Given the description of an element on the screen output the (x, y) to click on. 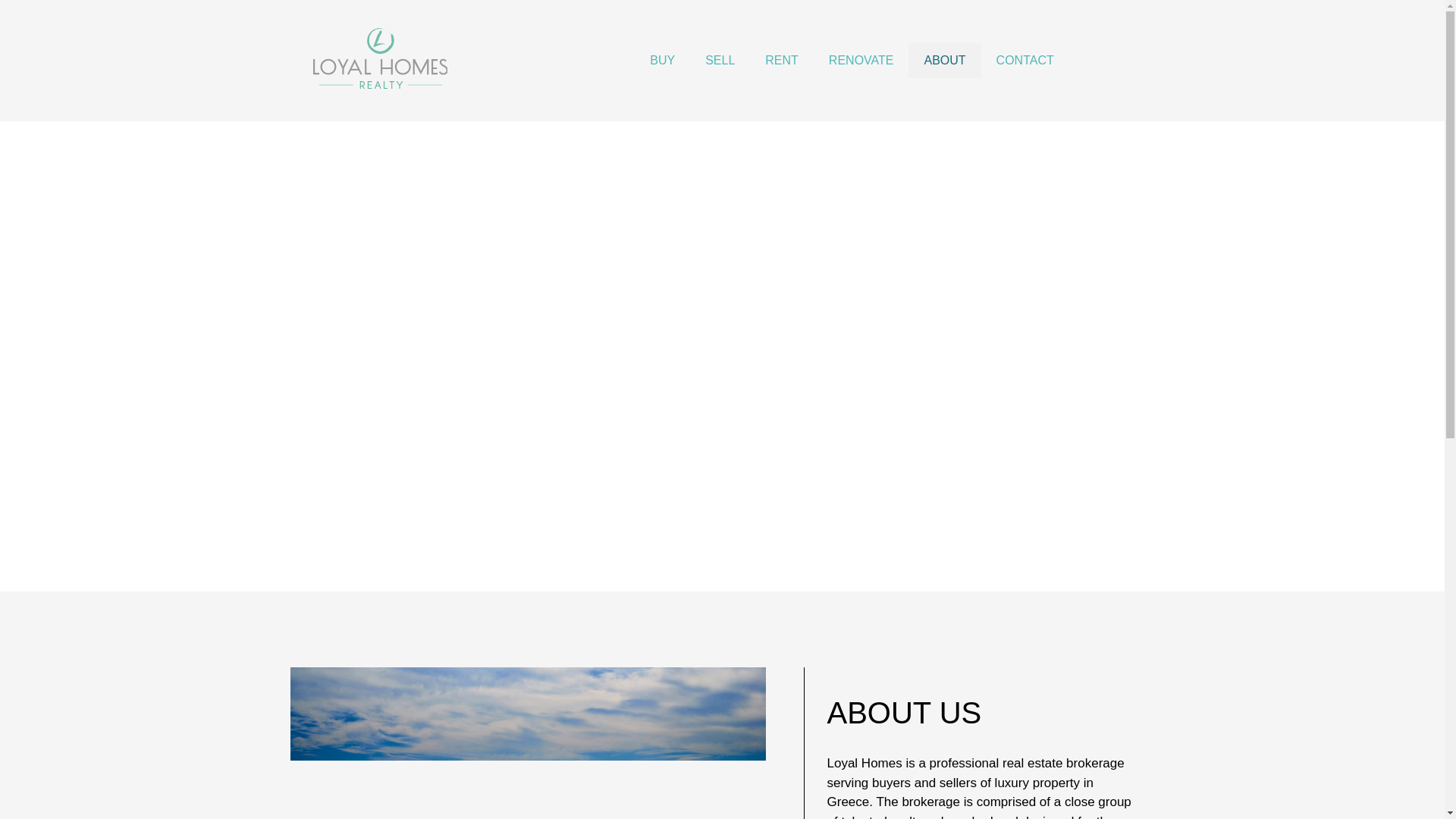
SELL (719, 60)
ABOUT (943, 60)
RENOVATE (860, 60)
RENT (781, 60)
BUY (662, 60)
CONTACT (1024, 60)
